Given the description of an element on the screen output the (x, y) to click on. 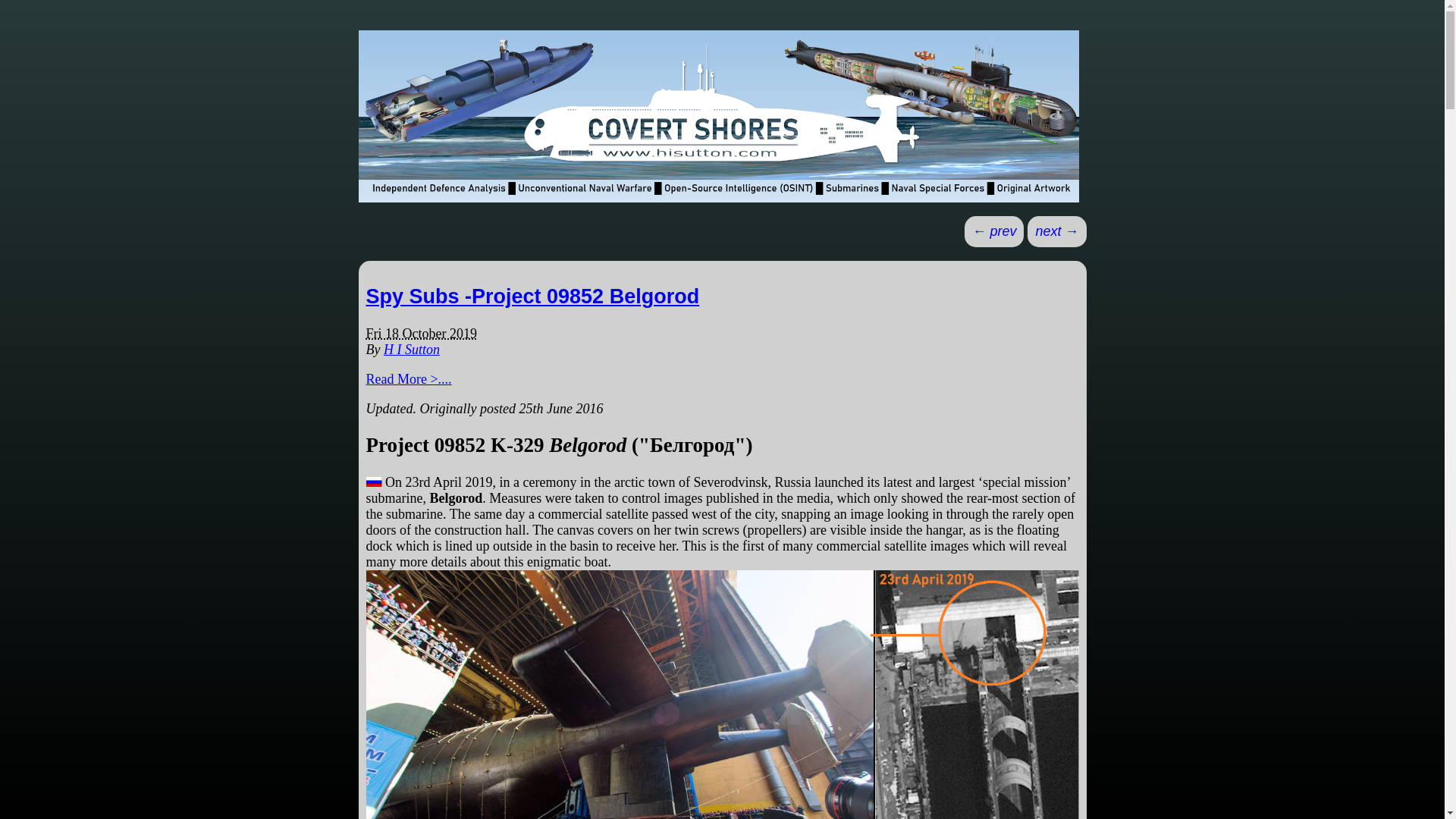
H I Sutton (411, 349)
Spy Subs -Project 09852 Belgorod (531, 296)
Permalink to Spy Subs -Project 09852 Belgorod (531, 296)
This Articles Has Been Superseded. Go Here For Latest Info (408, 378)
